Given the description of an element on the screen output the (x, y) to click on. 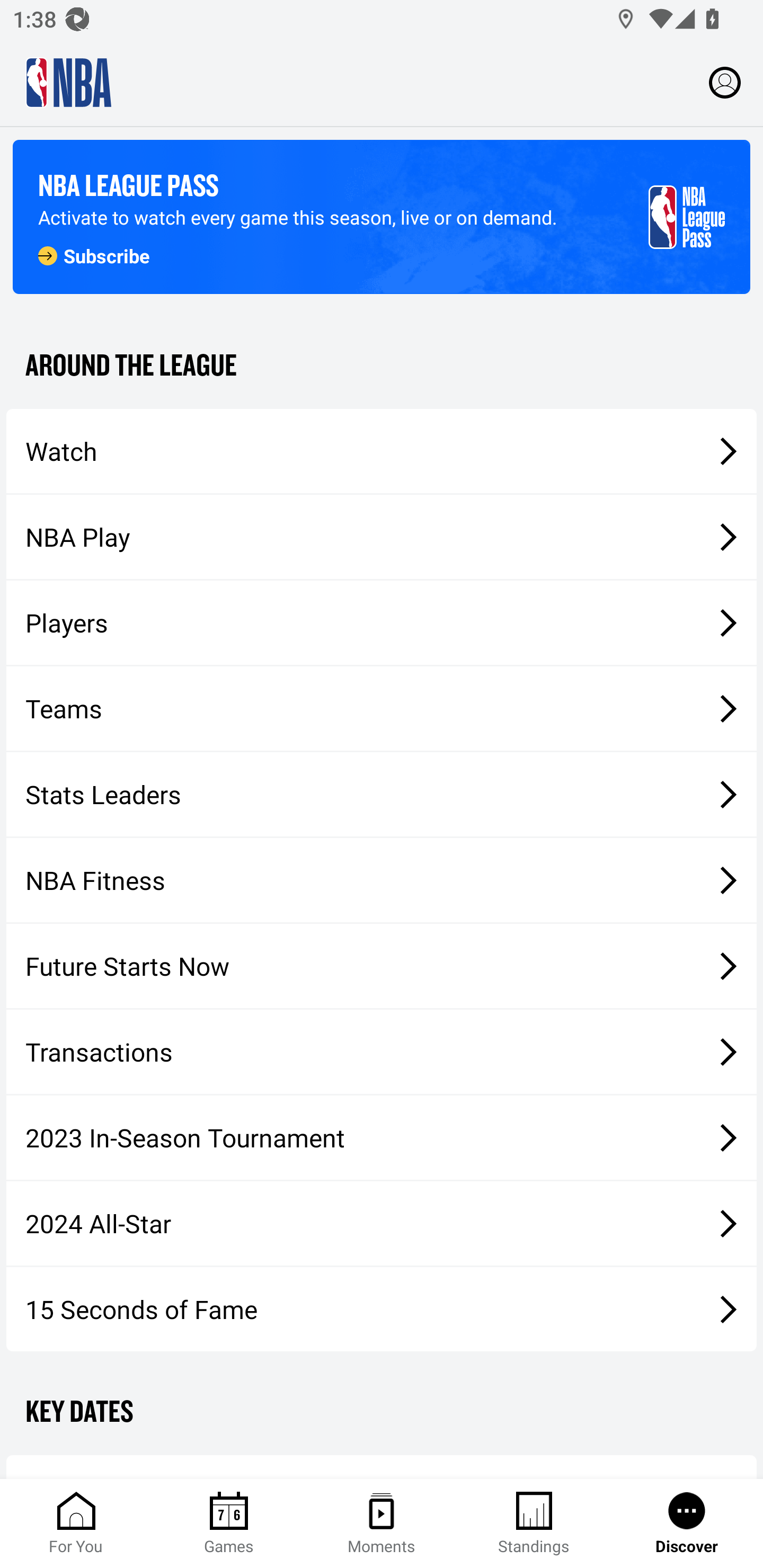
Profile (724, 81)
Watch (381, 451)
NBA Play (381, 536)
Players (381, 622)
Teams (381, 708)
Stats Leaders (381, 793)
NBA Fitness (381, 879)
Future Starts Now (381, 965)
Transactions (381, 1051)
2023 In-Season Tournament (381, 1137)
2024 All-Star (381, 1222)
15 Seconds of Fame (381, 1308)
For You (76, 1523)
Games (228, 1523)
Moments (381, 1523)
Standings (533, 1523)
